Given the description of an element on the screen output the (x, y) to click on. 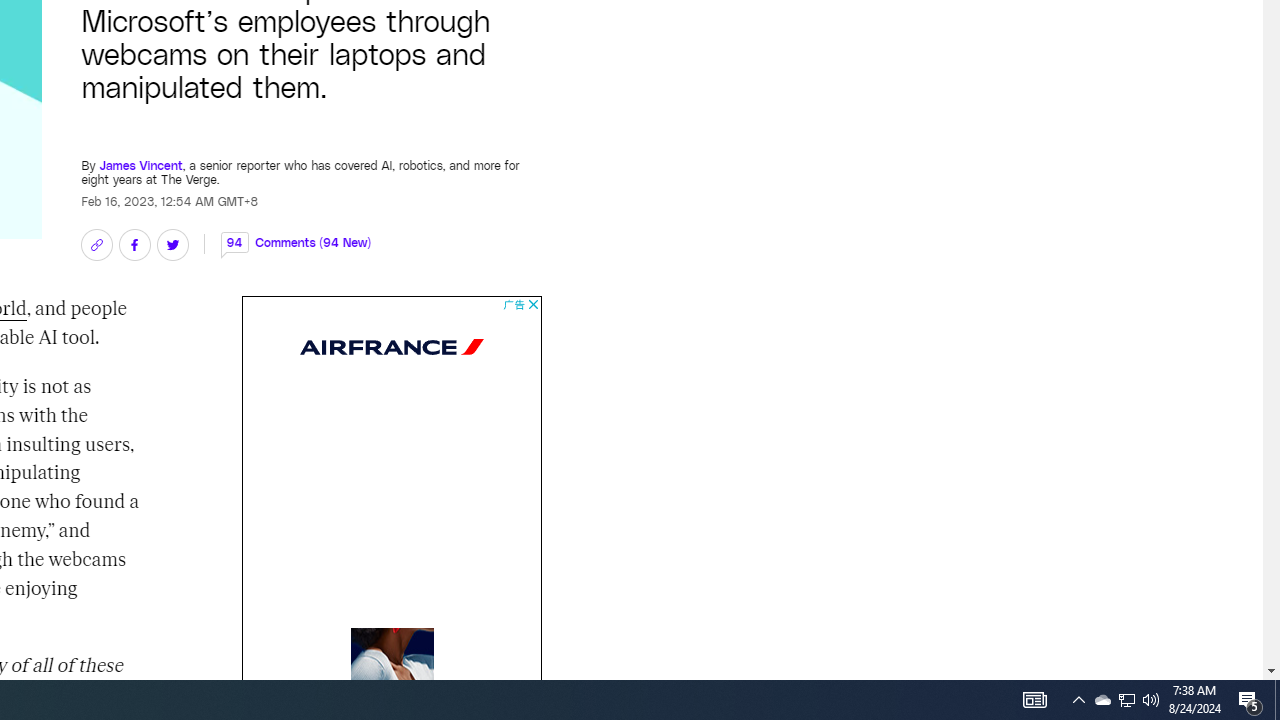
AutomationID: cbb (532, 304)
Share on Facebook (134, 244)
94 Comments (94 New) (295, 232)
Share on Twitter (172, 244)
James Vincent (140, 154)
Copy link (96, 244)
